Given the description of an element on the screen output the (x, y) to click on. 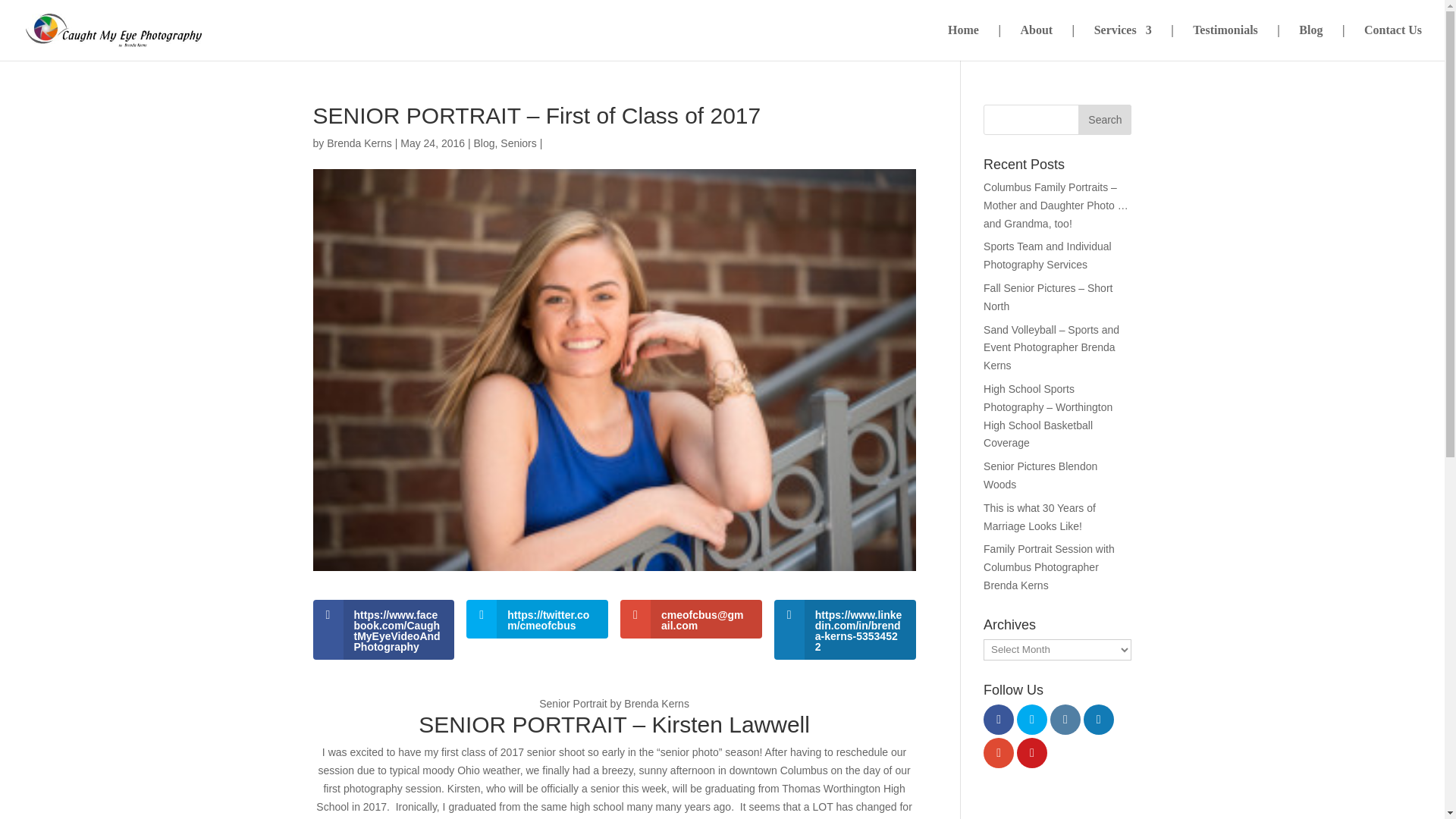
Search (1104, 119)
Brenda Kerns (358, 143)
Posts by Brenda Kerns (358, 143)
Contact Us (1393, 42)
This is what 30 Years of Marriage Looks Like! (1040, 517)
Search (1104, 119)
Contact Us (1393, 42)
Seniors (517, 143)
Services (1122, 42)
